Given the description of an element on the screen output the (x, y) to click on. 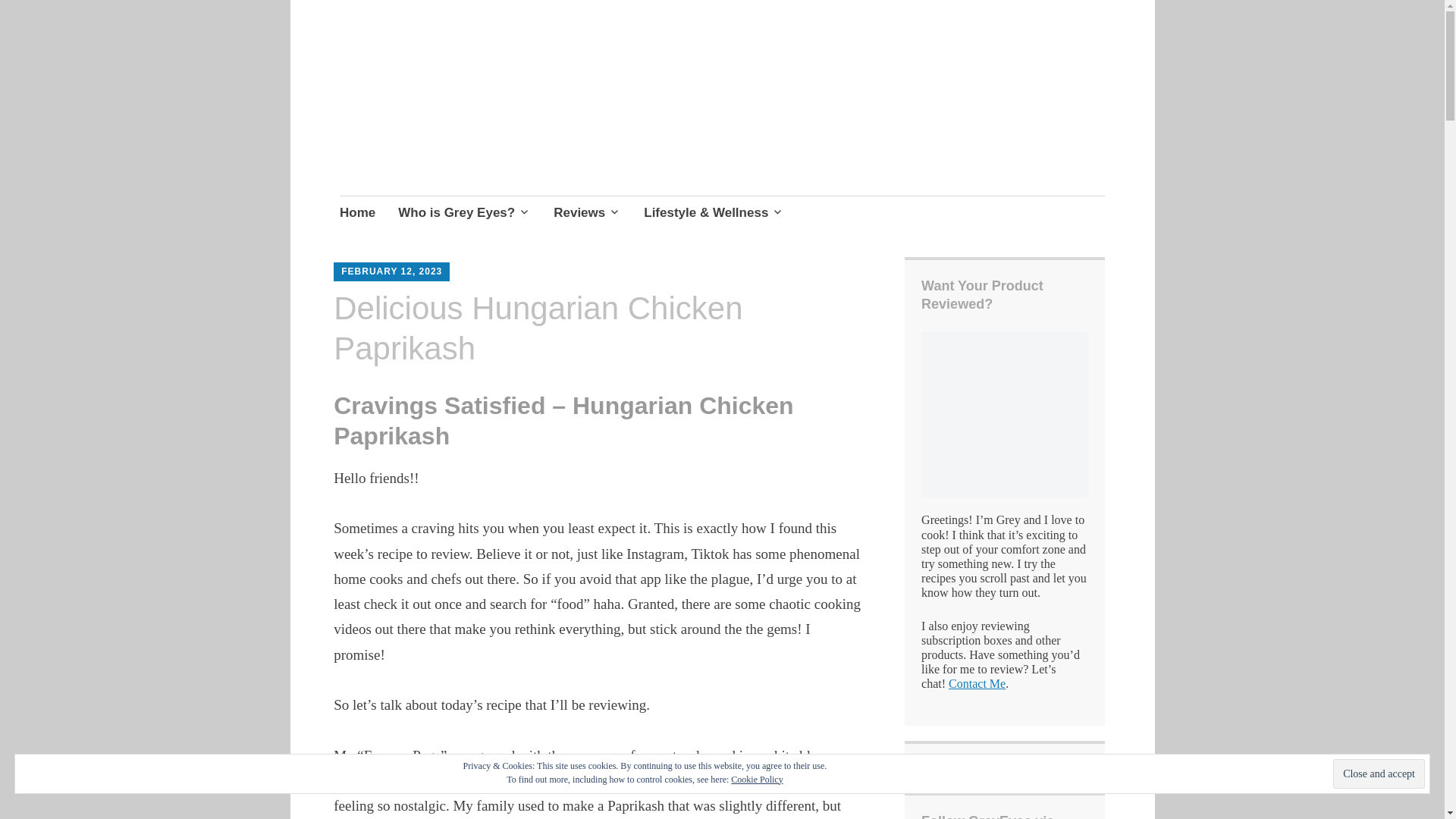
Who is Grey Eyes? (464, 214)
Home (357, 214)
Thoughts of Grey Eyes (509, 132)
Reviews (587, 214)
Close and accept (1379, 773)
FEBRUARY 12, 2023 (391, 271)
